Given the description of an element on the screen output the (x, y) to click on. 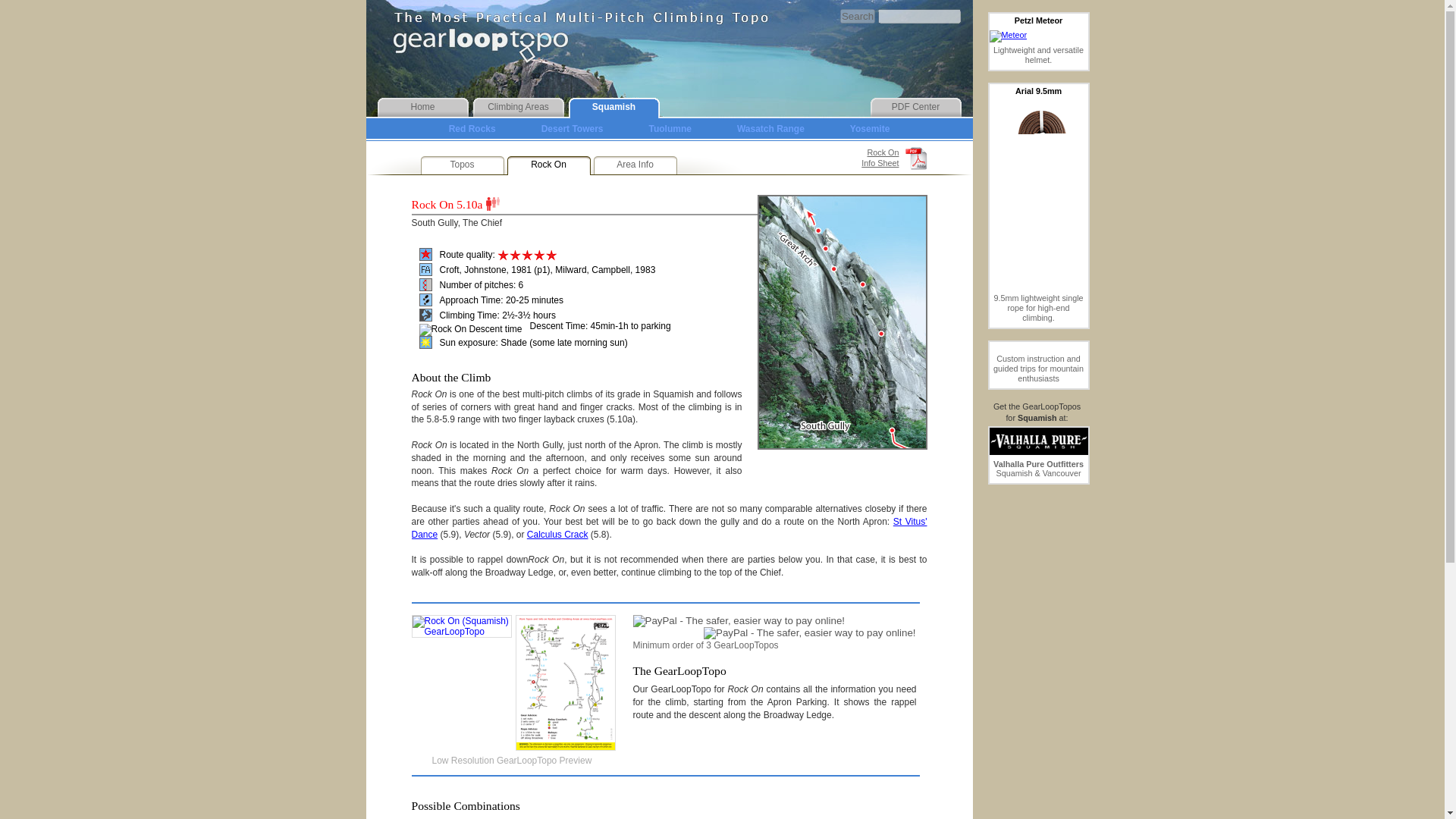
Red Rocks (472, 128)
Topos (462, 164)
Home (422, 106)
Rock On Pitch Info (424, 284)
PDF Center (915, 106)
Desert Towers (572, 128)
Squamish Buttress (887, 818)
Calculus Crack (557, 534)
Rock On Climbing Time (424, 314)
Rock On Sun Exposure (424, 254)
